Given the description of an element on the screen output the (x, y) to click on. 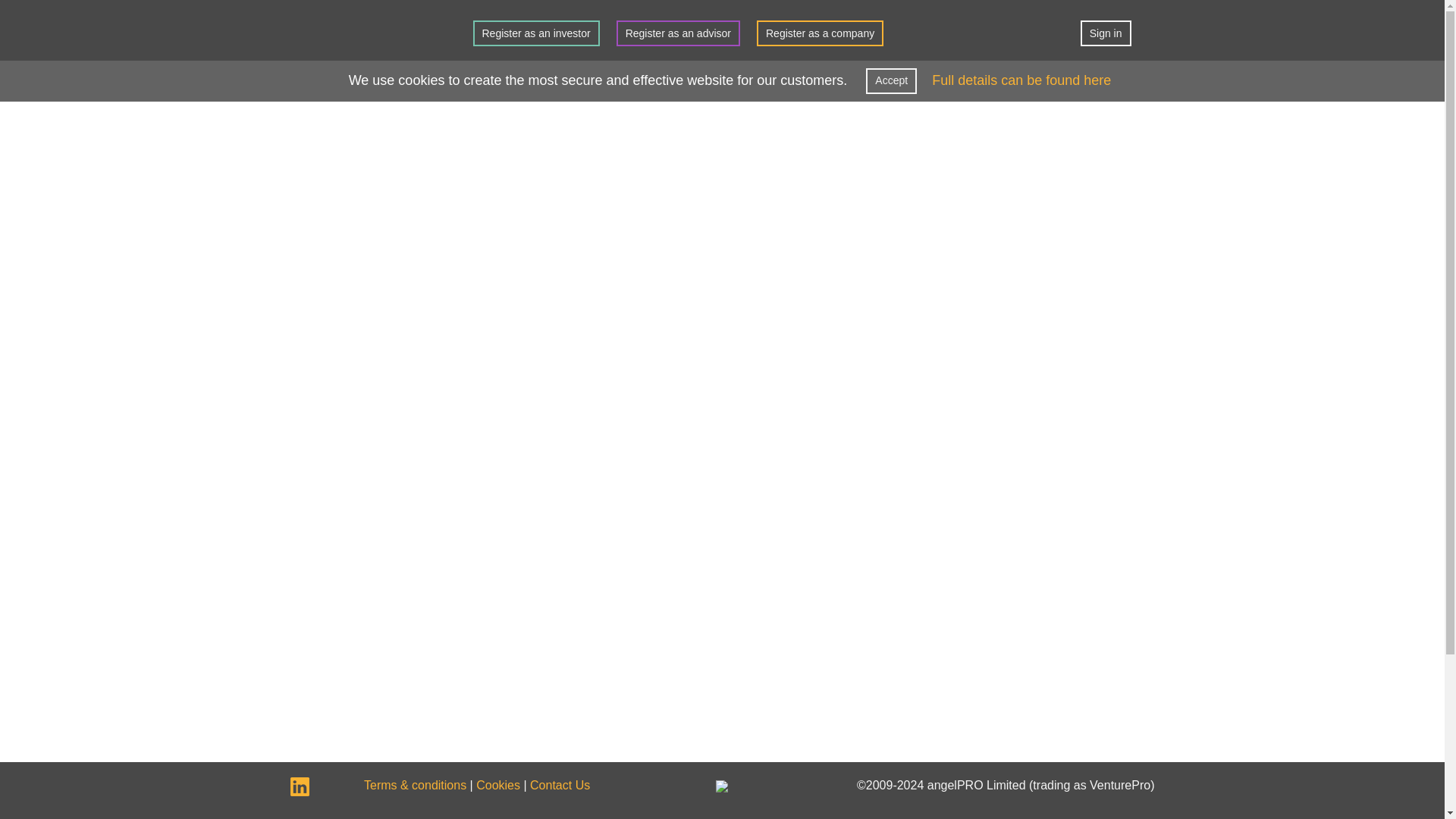
Sign in (1105, 32)
Full details can be found here (1020, 79)
Register as a company (820, 32)
Accept (891, 80)
Register as an advisor (677, 32)
Contact Us (559, 784)
Cookies (497, 784)
Register as an investor (536, 32)
